Given the description of an element on the screen output the (x, y) to click on. 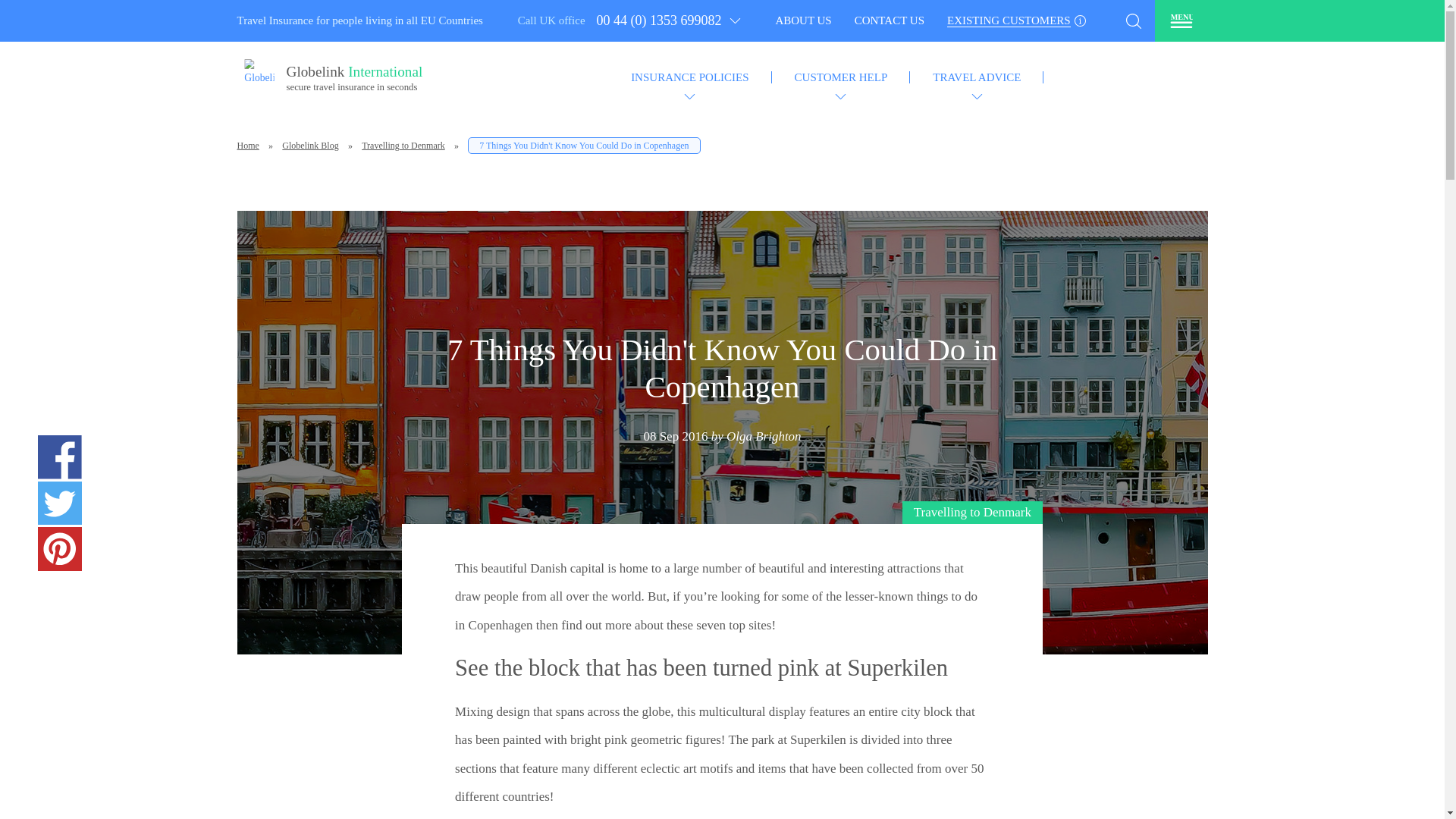
MENU (1180, 20)
CONTACT US (355, 81)
EXISTING CUSTOMERS (889, 20)
ABOUT US (1016, 20)
